Given the description of an element on the screen output the (x, y) to click on. 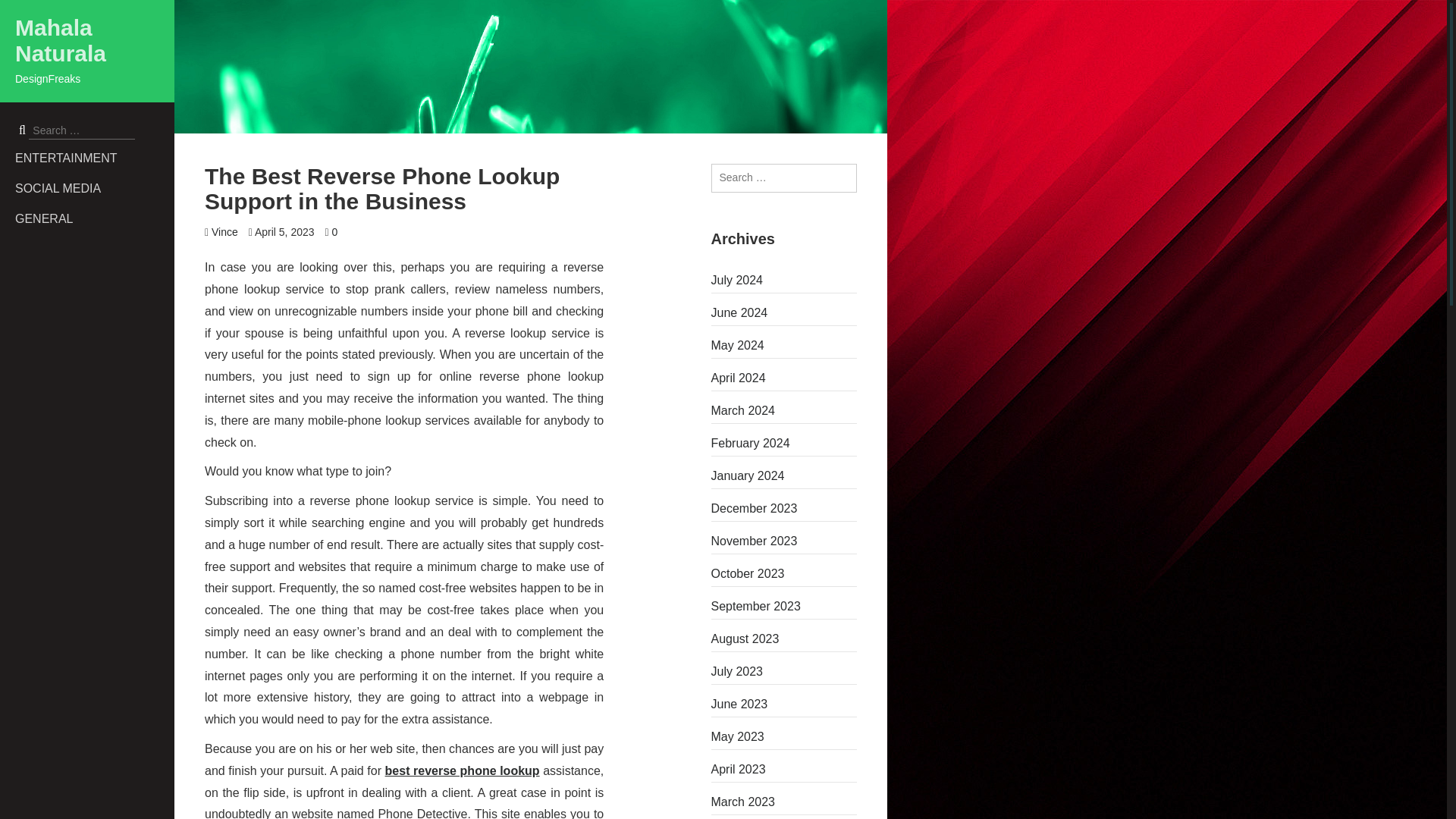
Posts by Vince (224, 232)
best reverse phone lookup (462, 770)
May 2024 (784, 345)
ENTERTAINMENT (94, 158)
June 2024 (784, 313)
April 2023 (784, 769)
Mahala Naturala (60, 40)
December 2023 (784, 508)
May 2023 (784, 736)
September 2023 (784, 606)
GENERAL (94, 218)
March 2024 (784, 410)
July 2023 (784, 671)
October 2023 (784, 573)
July 2024 (784, 280)
